Given the description of an element on the screen output the (x, y) to click on. 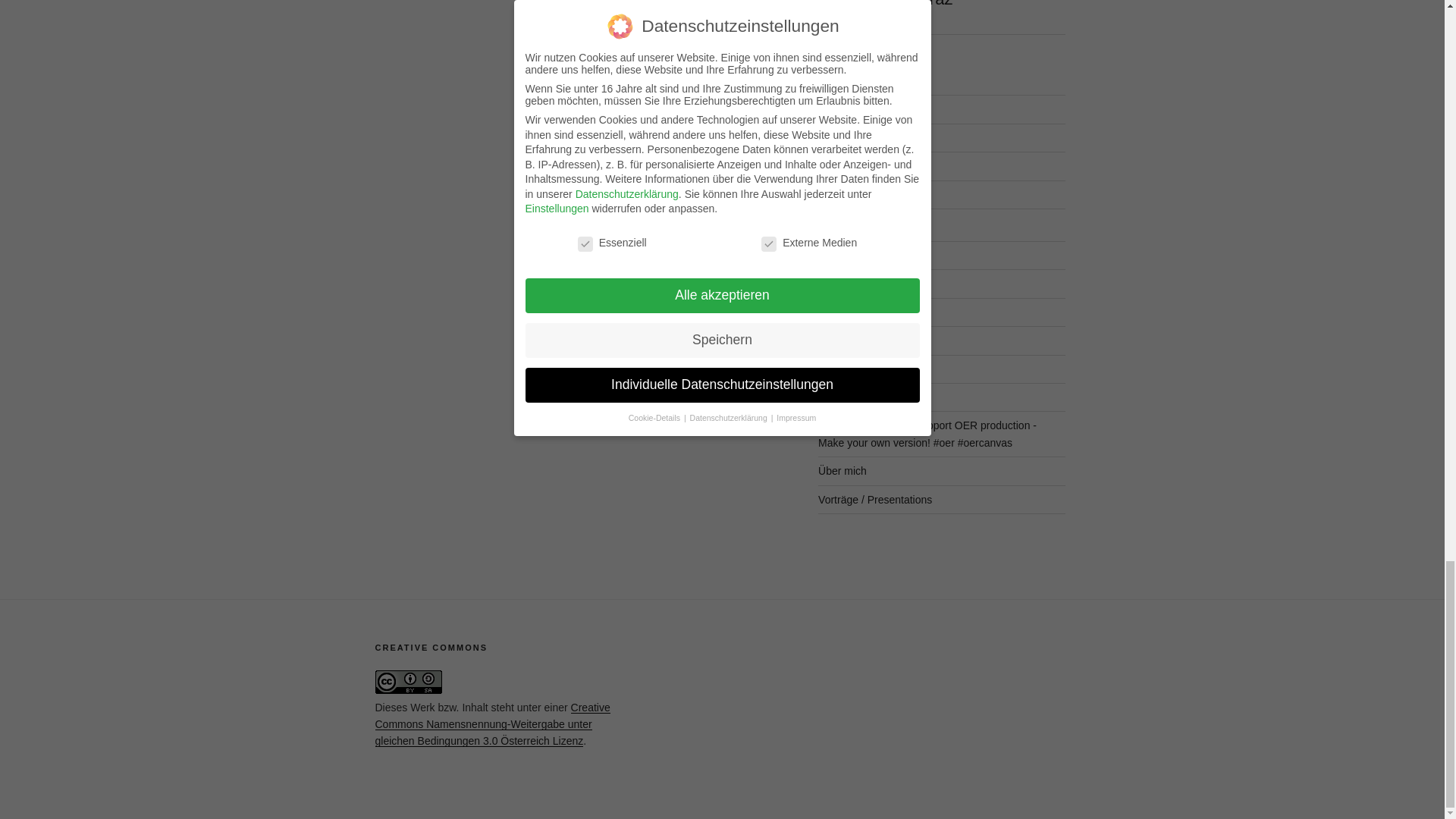
Bachelorarbeiten (858, 255)
Anmelden (842, 109)
Kommentare-Feed (862, 165)
WordPress.org (853, 194)
